Given the description of an element on the screen output the (x, y) to click on. 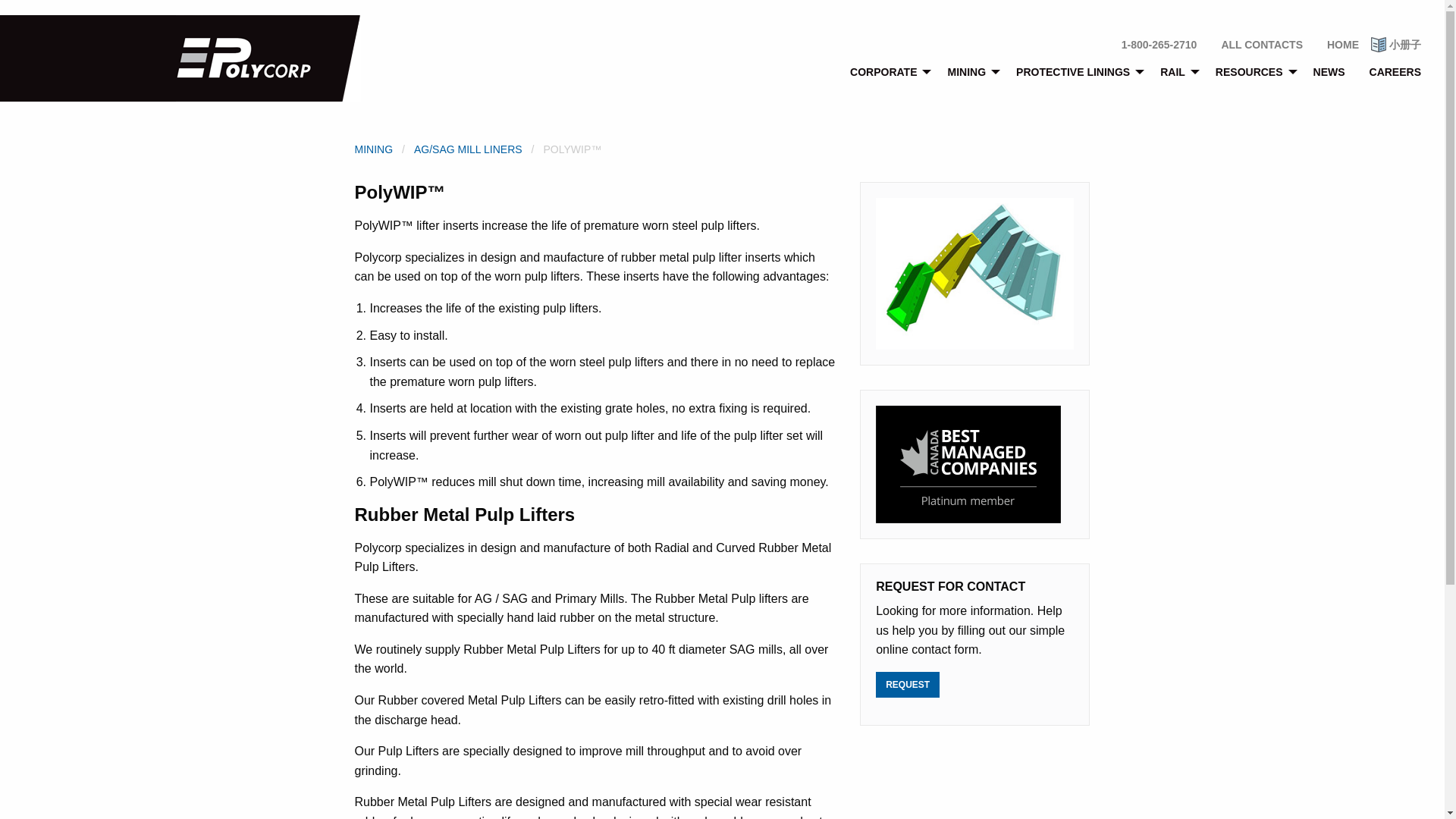
PROTECTIVE LININGS (1076, 71)
HOME (1342, 44)
Home (268, 58)
MINING (969, 71)
1-800-265-2710 (1159, 44)
CORPORATE (886, 71)
ALL CONTACTS (1261, 44)
